Given the description of an element on the screen output the (x, y) to click on. 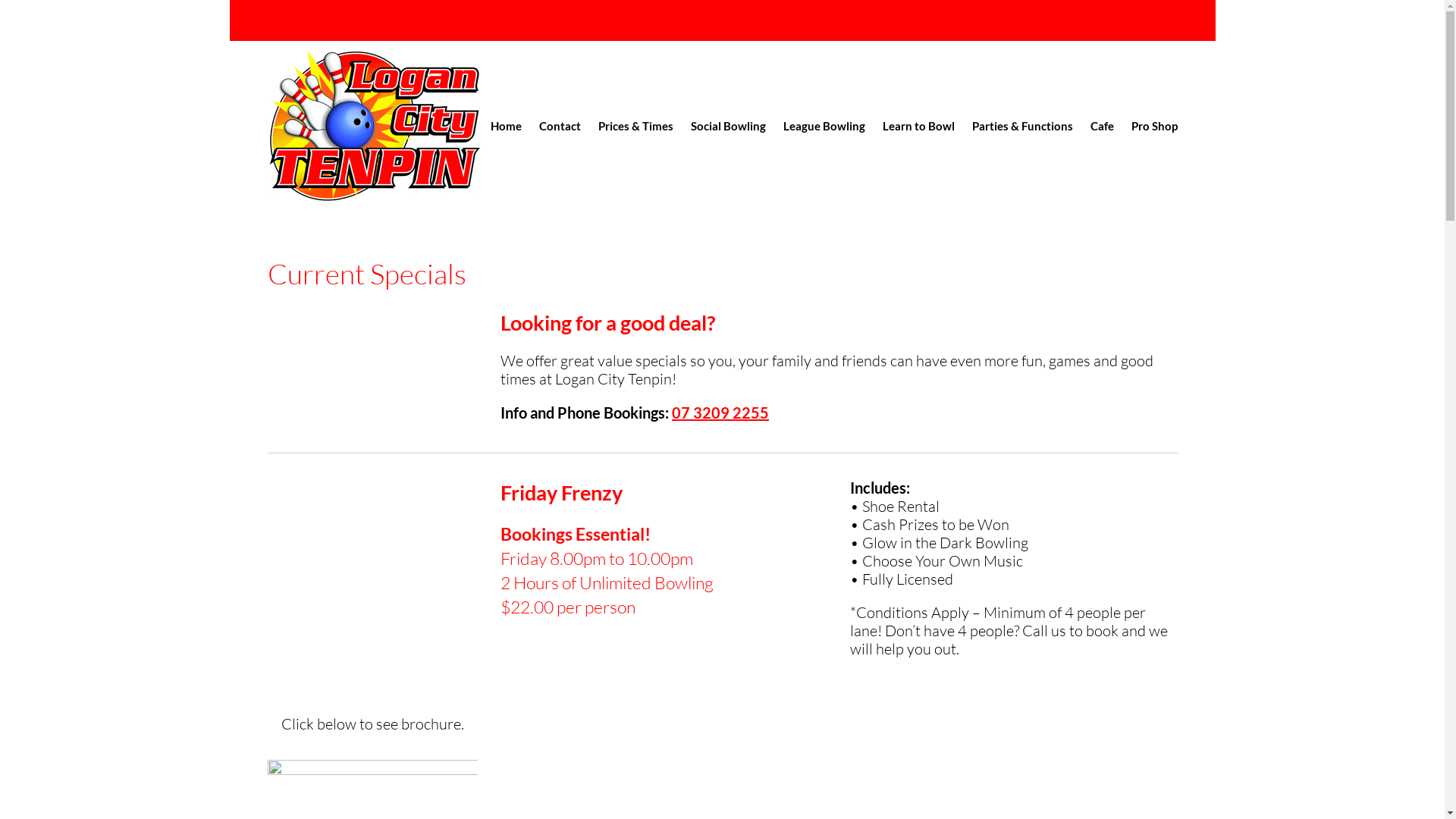
Cafe Element type: text (1101, 124)
Home Element type: text (505, 124)
07 3209 2255 Element type: text (719, 412)
Contact Element type: text (558, 124)
Social Bowling Element type: text (727, 124)
League Bowling Element type: text (823, 124)
Prices & Times Element type: text (634, 124)
Learn to Bowl Element type: text (918, 124)
Pro Shop Element type: text (1154, 124)
Parties & Functions Element type: text (1022, 124)
